Given the description of an element on the screen output the (x, y) to click on. 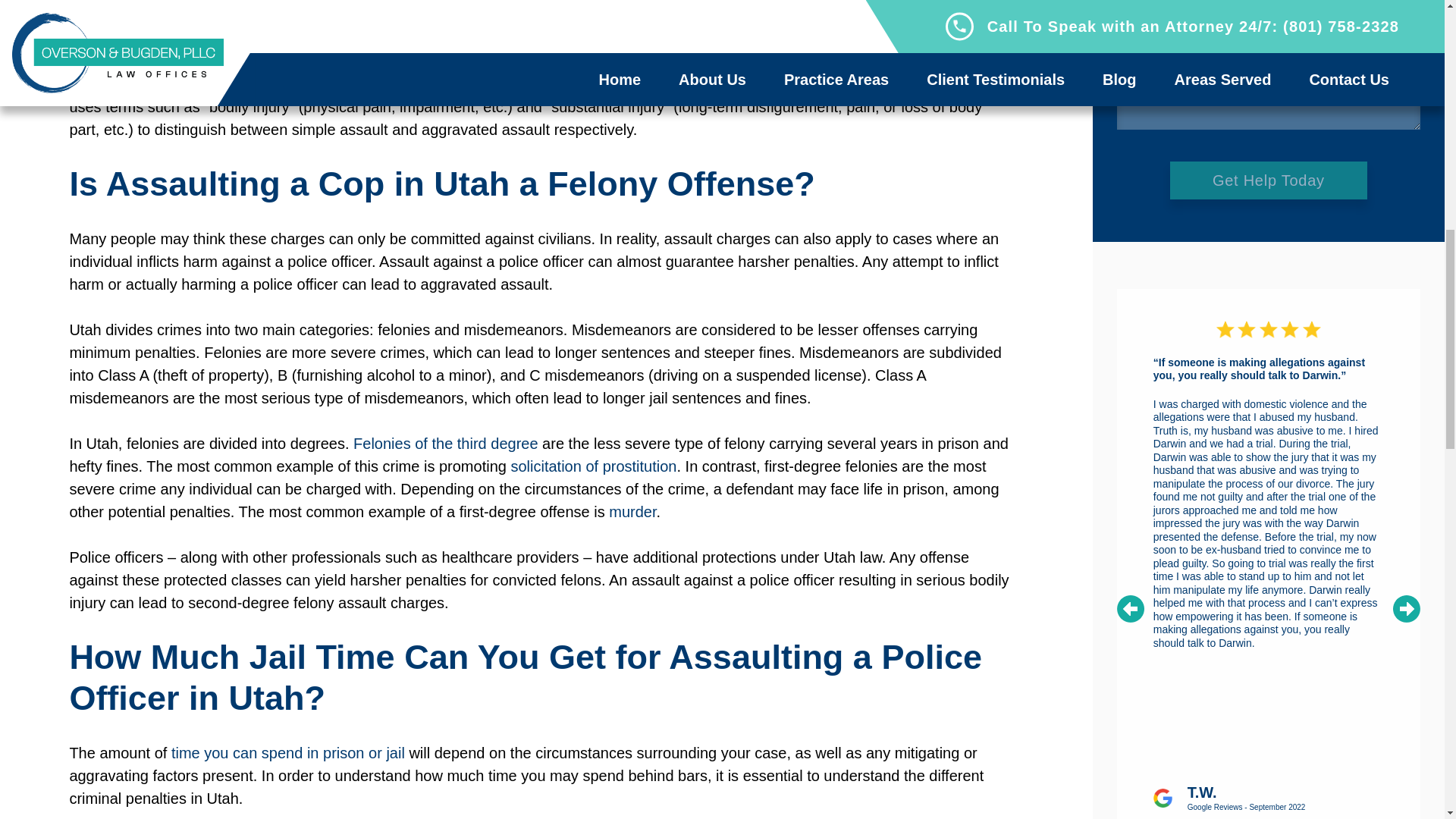
Get Help Today (1268, 179)
